Given the description of an element on the screen output the (x, y) to click on. 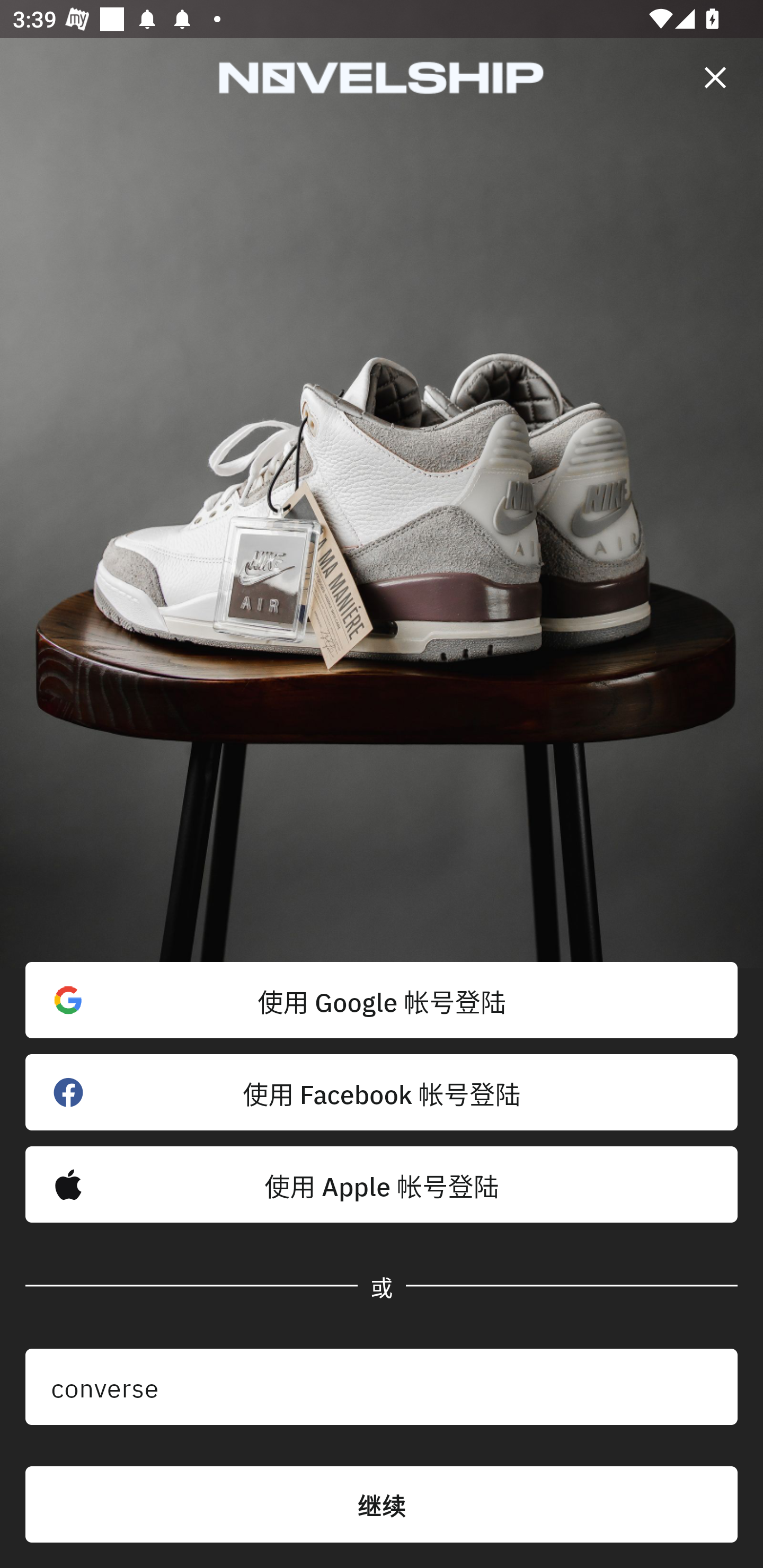
使用 Google 帐号登陆 (381, 1000)
使用 Facebook 帐号登陆 󰈌 (381, 1091)
 使用 Apple 帐号登陆 (381, 1184)
converse (381, 1386)
继续 (381, 1504)
